Given the description of an element on the screen output the (x, y) to click on. 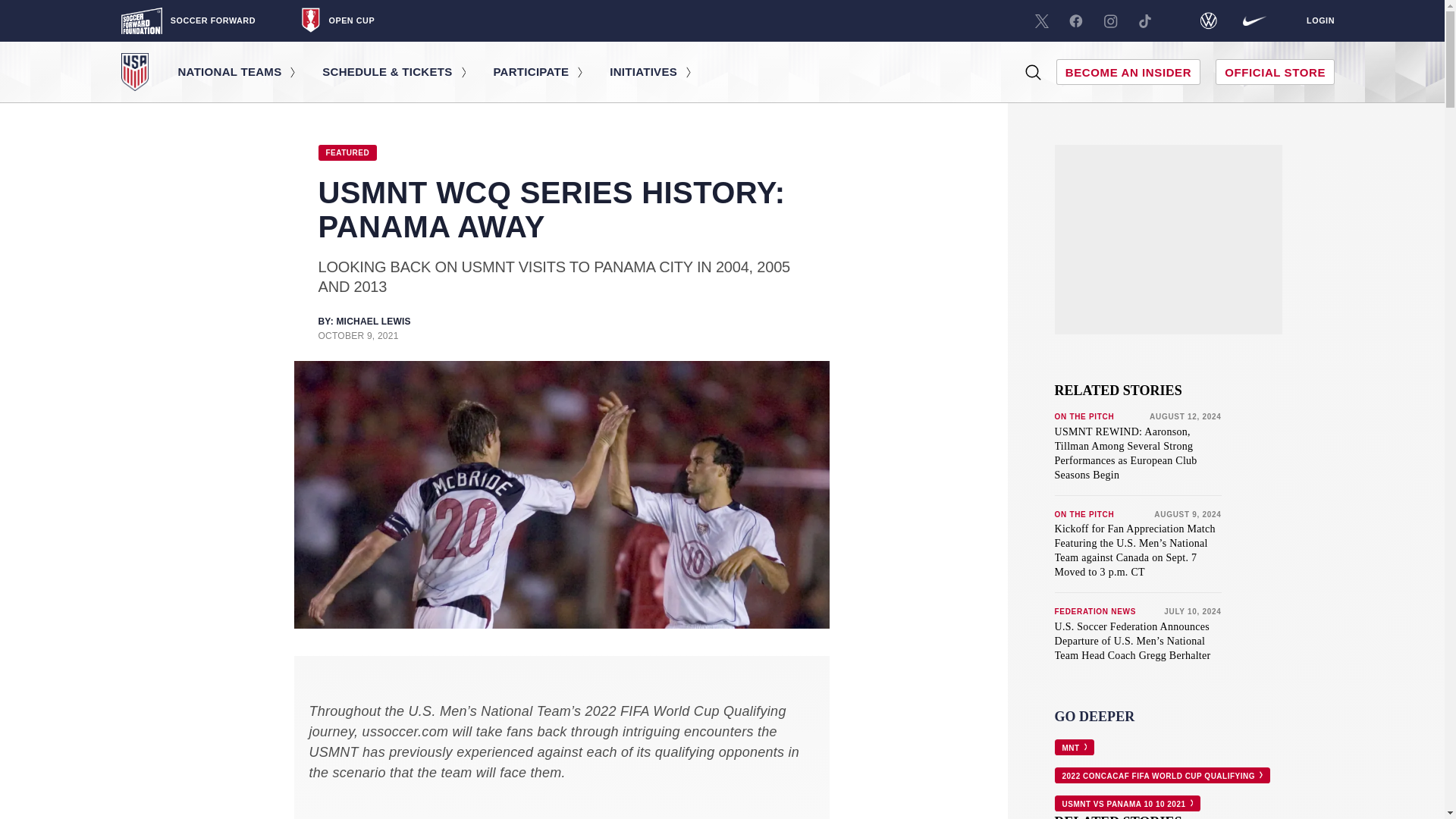
Search (1033, 71)
LOGIN (1320, 20)
OPEN CUP (337, 20)
SOCCER FORWARD (188, 20)
